Given the description of an element on the screen output the (x, y) to click on. 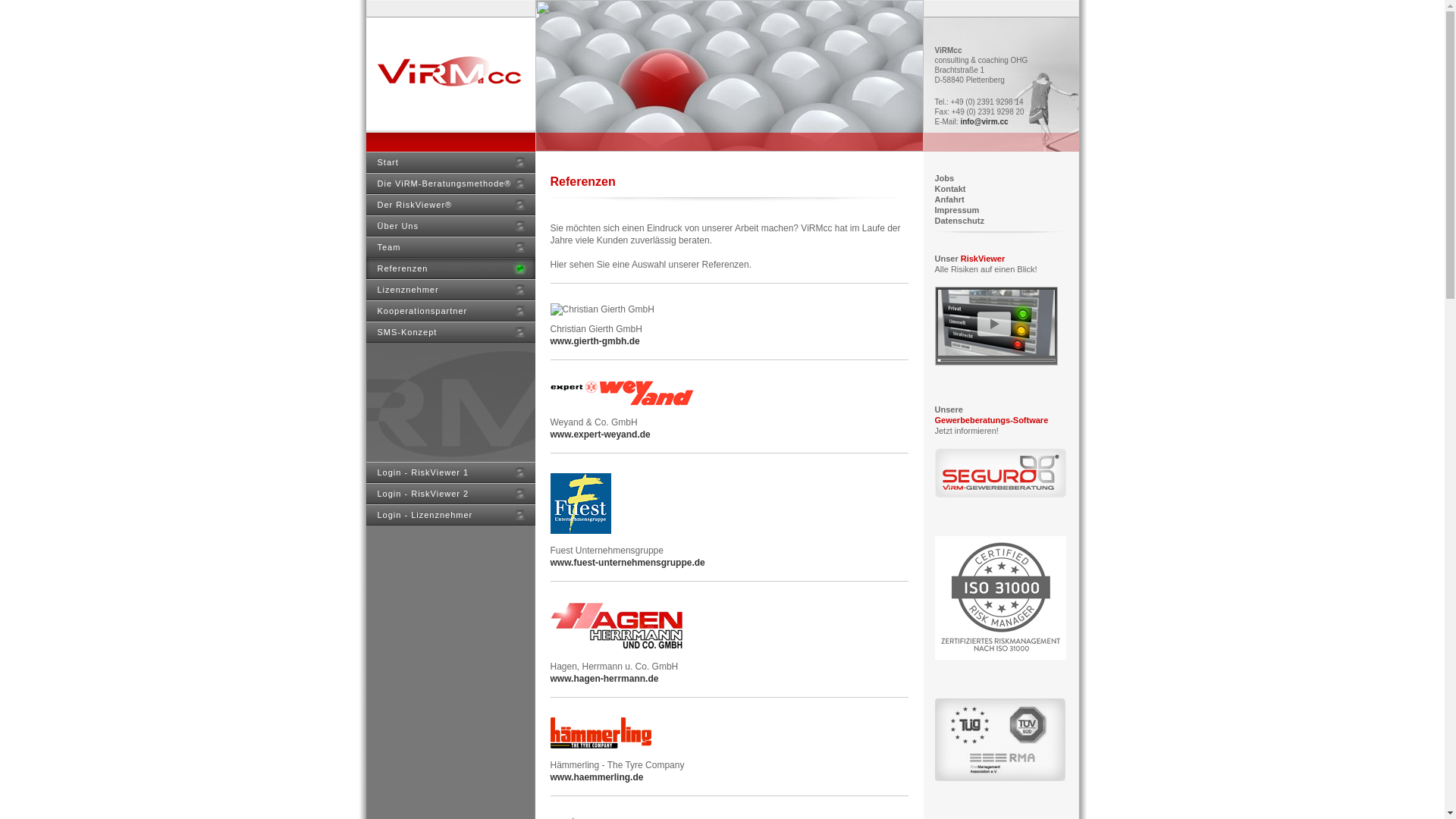
info@virm.cc Element type: text (983, 121)
Datenschutz Element type: text (958, 220)
www.expert-weyand.de Element type: text (600, 434)
Start Element type: text (449, 161)
Login - RiskViewer 1 Element type: text (449, 472)
Team Element type: text (449, 246)
www.fuest-unternehmensgruppe.de Element type: text (627, 562)
Kontakt Element type: text (949, 188)
Lizenznehmer Element type: text (449, 289)
www.gierth-gmbh.de Element type: text (595, 340)
Kooperationspartner Element type: text (449, 310)
Login - RiskViewer 2 Element type: text (449, 493)
Jobs Element type: text (943, 177)
Anfahrt Element type: text (948, 198)
Login - Lizenznehmer Element type: text (449, 514)
ViRMcc - consulting & coaching OHG Element type: hover (449, 75)
Impressum Element type: text (956, 209)
Referenzen Element type: text (449, 268)
www.haemmerling.de Element type: text (596, 776)
www.hagen-herrmann.de Element type: text (604, 678)
SMS-Konzept Element type: text (449, 331)
